Given the description of an element on the screen output the (x, y) to click on. 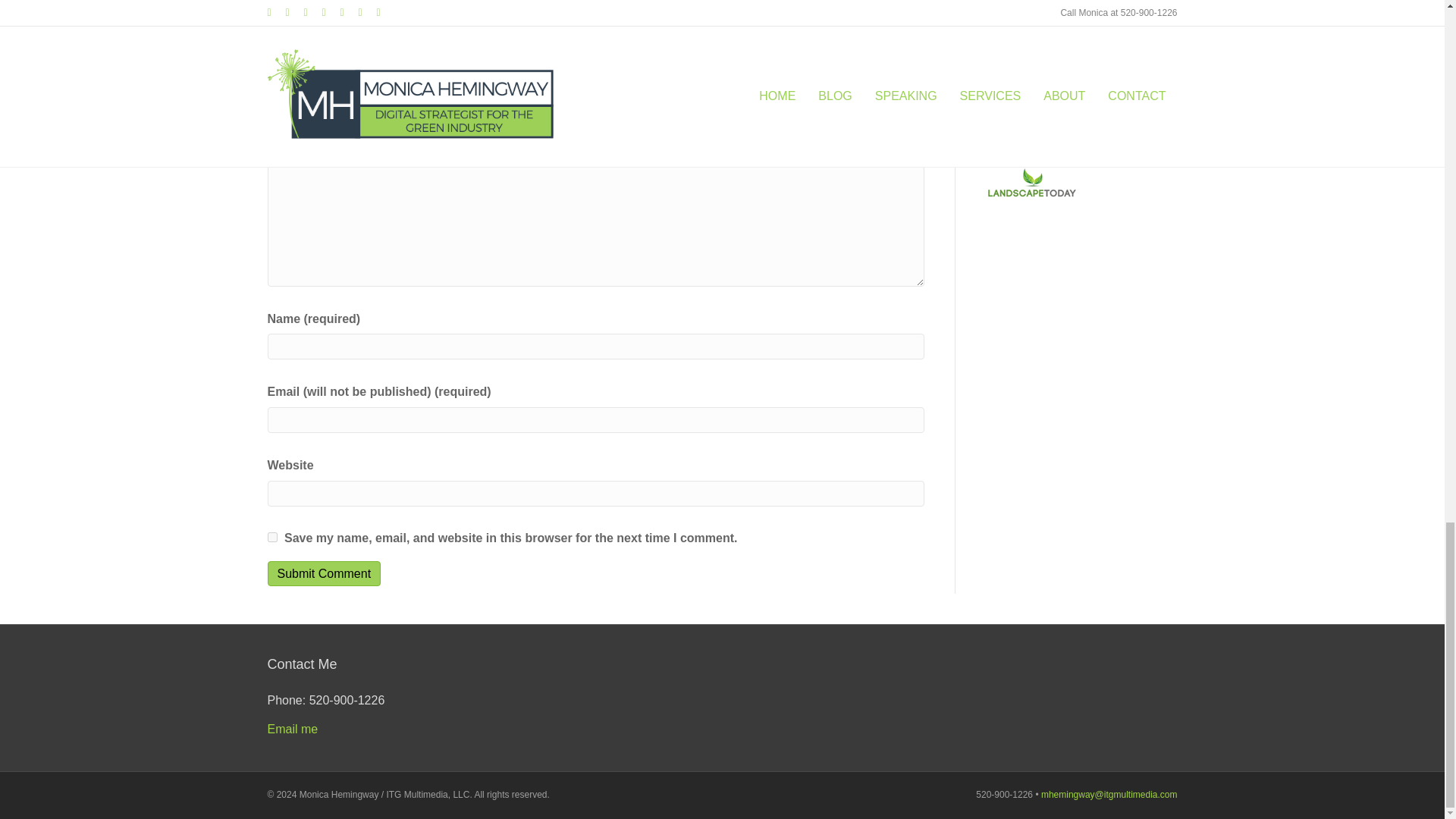
Reply (901, 65)
yes (271, 537)
Submit Comment (323, 573)
Submit Comment (323, 573)
